Given the description of an element on the screen output the (x, y) to click on. 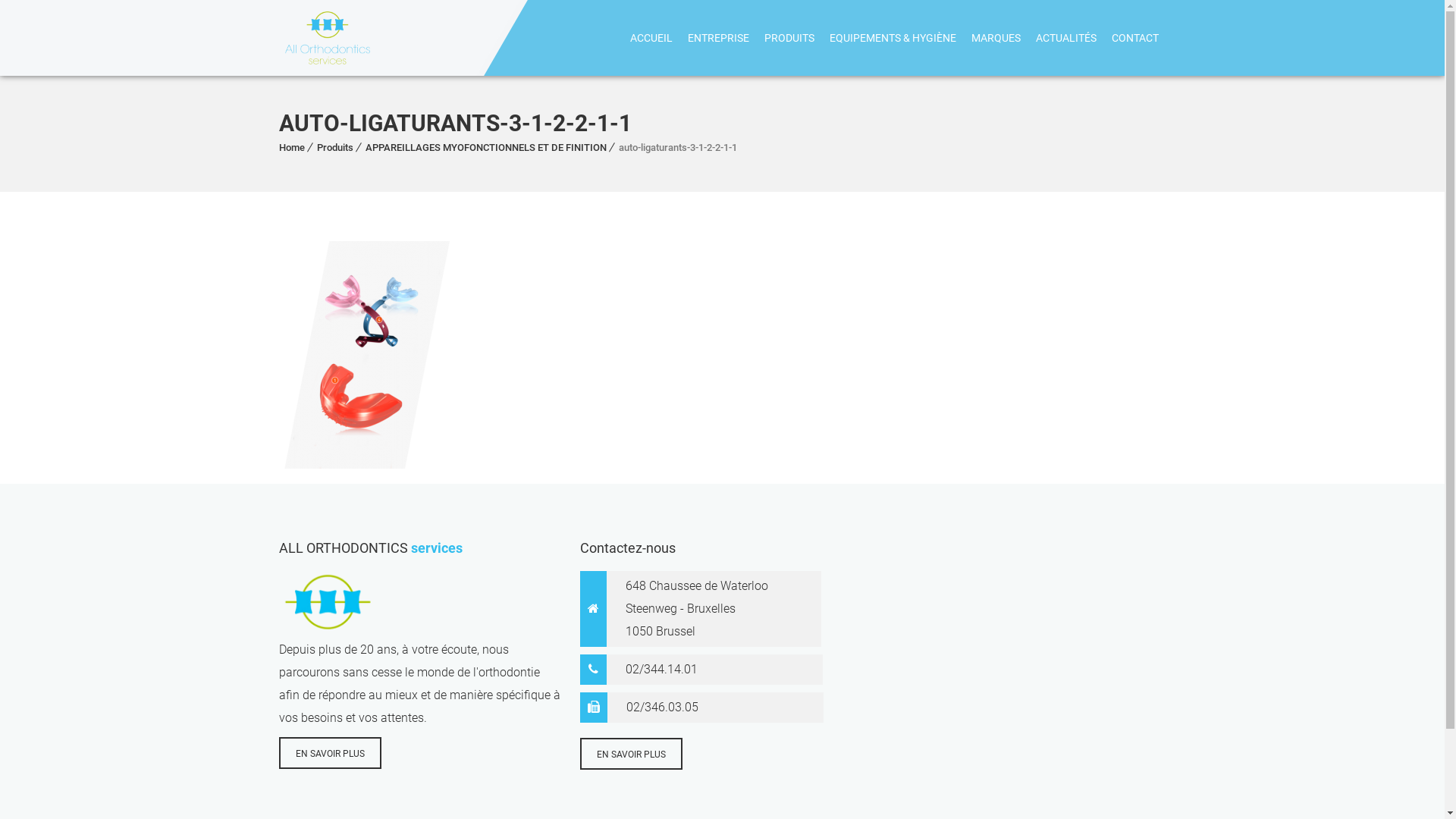
EN SAVOIR PLUS Element type: text (631, 753)
CONTACT Element type: text (1135, 37)
All Ortho Element type: hover (327, 37)
ENTREPRISE Element type: text (717, 37)
Produits Element type: text (334, 147)
All Ortho Element type: hover (324, 37)
Home Element type: text (291, 147)
PRODUITS Element type: text (789, 37)
EN SAVOIR PLUS Element type: text (330, 752)
MARQUES Element type: text (995, 37)
APPAREILLAGES MYOFONCTIONNELS ET DE FINITION Element type: text (485, 147)
ACCUEIL Element type: text (650, 37)
